Given the description of an element on the screen output the (x, y) to click on. 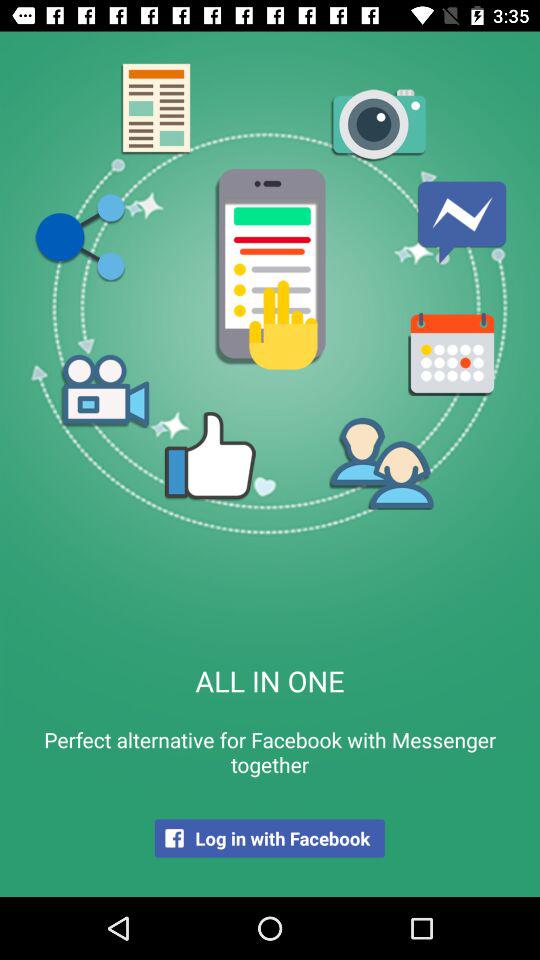
tap item below perfect alternative for item (269, 838)
